Given the description of an element on the screen output the (x, y) to click on. 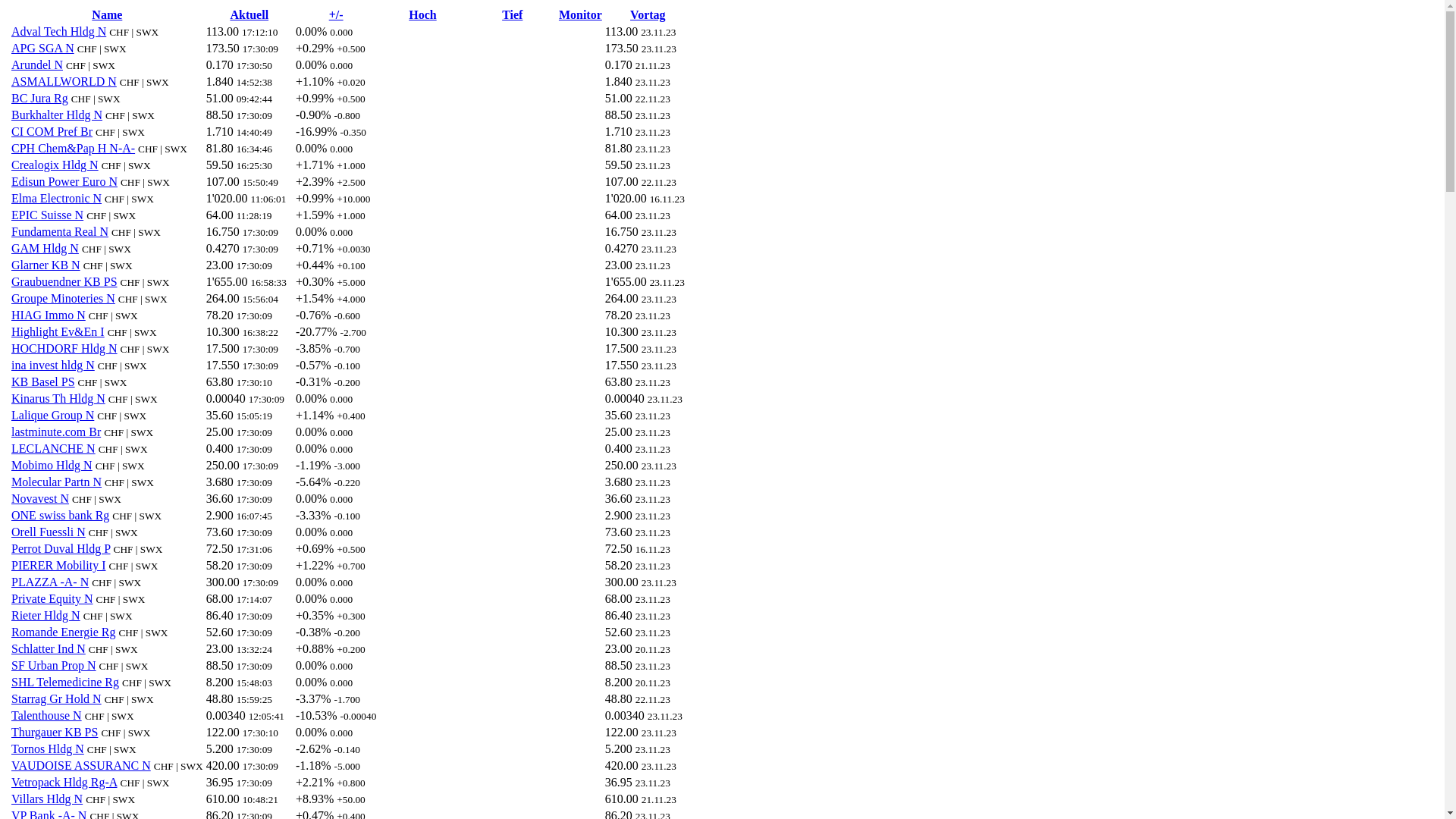
Graubuendner KB PS Element type: text (64, 281)
Mobimo Hldg N Element type: text (51, 464)
ina invest hldg N Element type: text (52, 364)
Villars Hldg N Element type: text (46, 798)
Hoch Element type: text (422, 14)
Adval Tech Hldg N Element type: text (58, 31)
Romande Energie Rg Element type: text (63, 631)
Name Element type: text (106, 14)
Kinarus Th Hldg N Element type: text (58, 398)
Elma Electronic N Element type: text (56, 197)
Rieter Hldg N Element type: text (45, 614)
ASMALLWORLD N Element type: text (63, 81)
EPIC Suisse N Element type: text (47, 214)
CPH Chem&Pap H N-A- Element type: text (72, 147)
Fundamenta Real N Element type: text (59, 231)
Molecular Partn N Element type: text (56, 481)
Schlatter Ind N Element type: text (48, 648)
+/- Element type: text (336, 14)
Aktuell Element type: text (248, 14)
SF Urban Prop N Element type: text (53, 664)
Vortag Element type: text (647, 14)
Highlight Ev&En I Element type: text (57, 331)
Monitor Element type: text (580, 14)
PIERER Mobility I Element type: text (58, 564)
Orell Fuessli N Element type: text (48, 531)
Edisun Power Euro N Element type: text (64, 181)
Crealogix Hldg N Element type: text (54, 164)
GAM Hldg N Element type: text (44, 247)
HOCHDORF Hldg N Element type: text (64, 348)
Arundel N Element type: text (36, 64)
SHL Telemedicine Rg Element type: text (65, 681)
APG SGA N Element type: text (42, 47)
Private Equity N Element type: text (52, 598)
BC Jura Rg Element type: text (39, 97)
Burkhalter Hldg N Element type: text (56, 114)
KB Basel PS Element type: text (43, 381)
Groupe Minoteries N Element type: text (63, 297)
LECLANCHE N Element type: text (53, 448)
Lalique Group N Element type: text (52, 414)
VAUDOISE ASSURANC N Element type: text (80, 765)
Novavest N Element type: text (40, 498)
Starrag Gr Hold N Element type: text (56, 698)
PLAZZA -A- N Element type: text (49, 581)
lastminute.com Br Element type: text (55, 431)
Tief Element type: text (512, 14)
Perrot Duval Hldg P Element type: text (60, 548)
Tornos Hldg N Element type: text (47, 748)
Thurgauer KB PS Element type: text (54, 731)
CI COM Pref Br Element type: text (51, 131)
ONE swiss bank Rg Element type: text (60, 514)
HIAG Immo N Element type: text (48, 314)
Glarner KB N Element type: text (45, 264)
Talenthouse N Element type: text (46, 715)
Vetropack Hldg Rg-A Element type: text (64, 781)
